Given the description of an element on the screen output the (x, y) to click on. 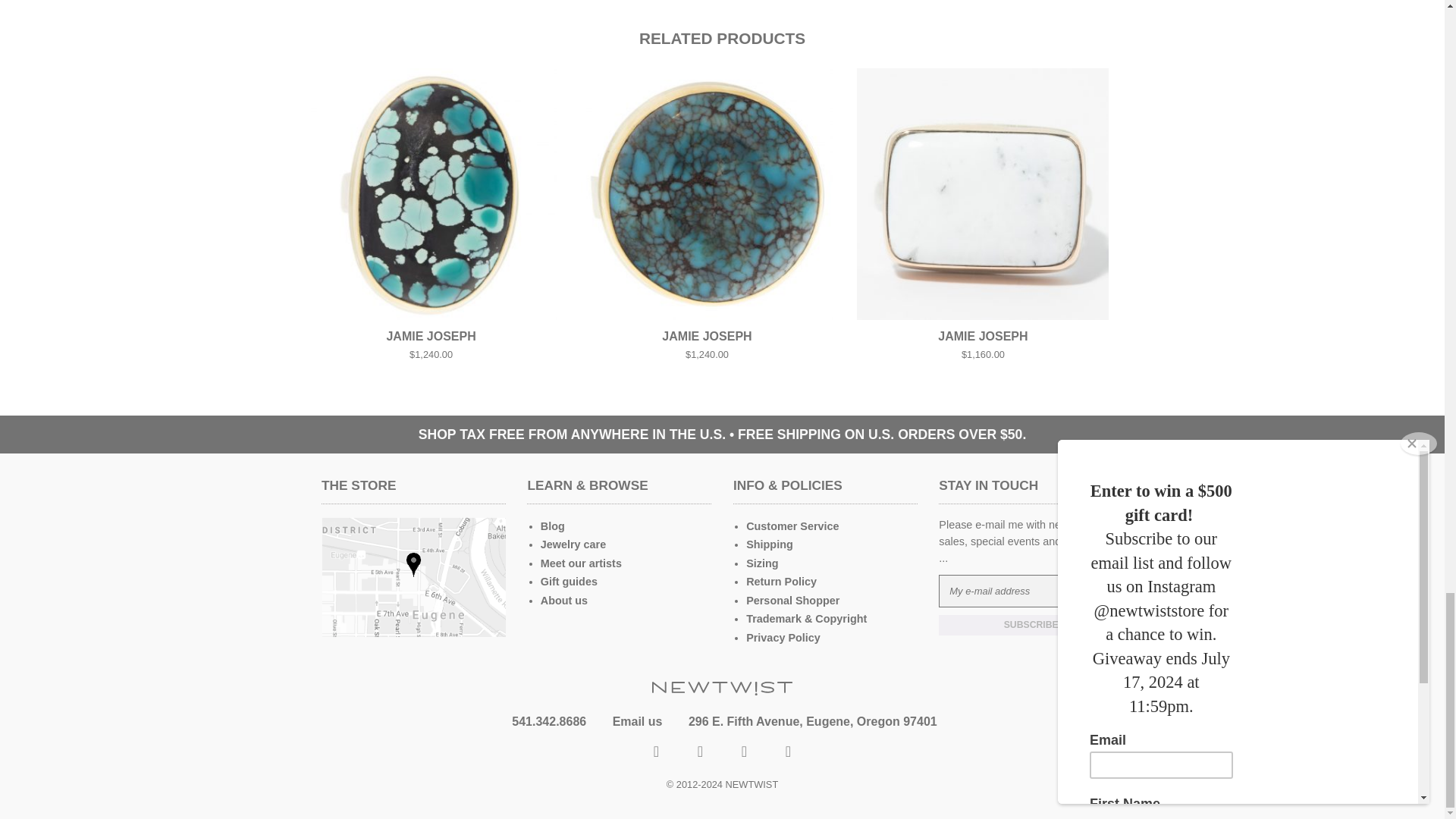
Subscribe (1030, 625)
